Given the description of an element on the screen output the (x, y) to click on. 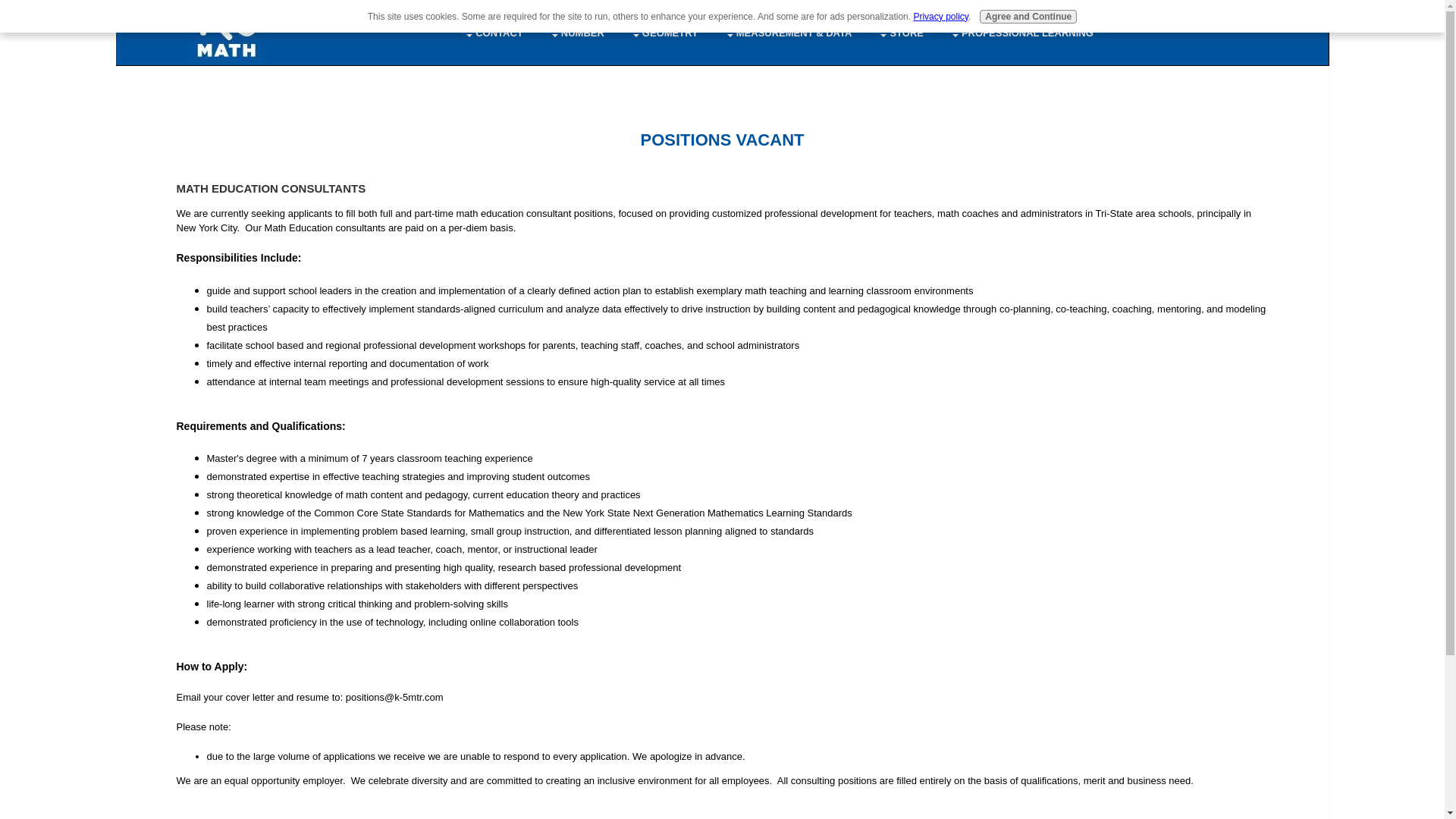
Agree and Continue (1028, 16)
Privacy policy (940, 16)
